Given the description of an element on the screen output the (x, y) to click on. 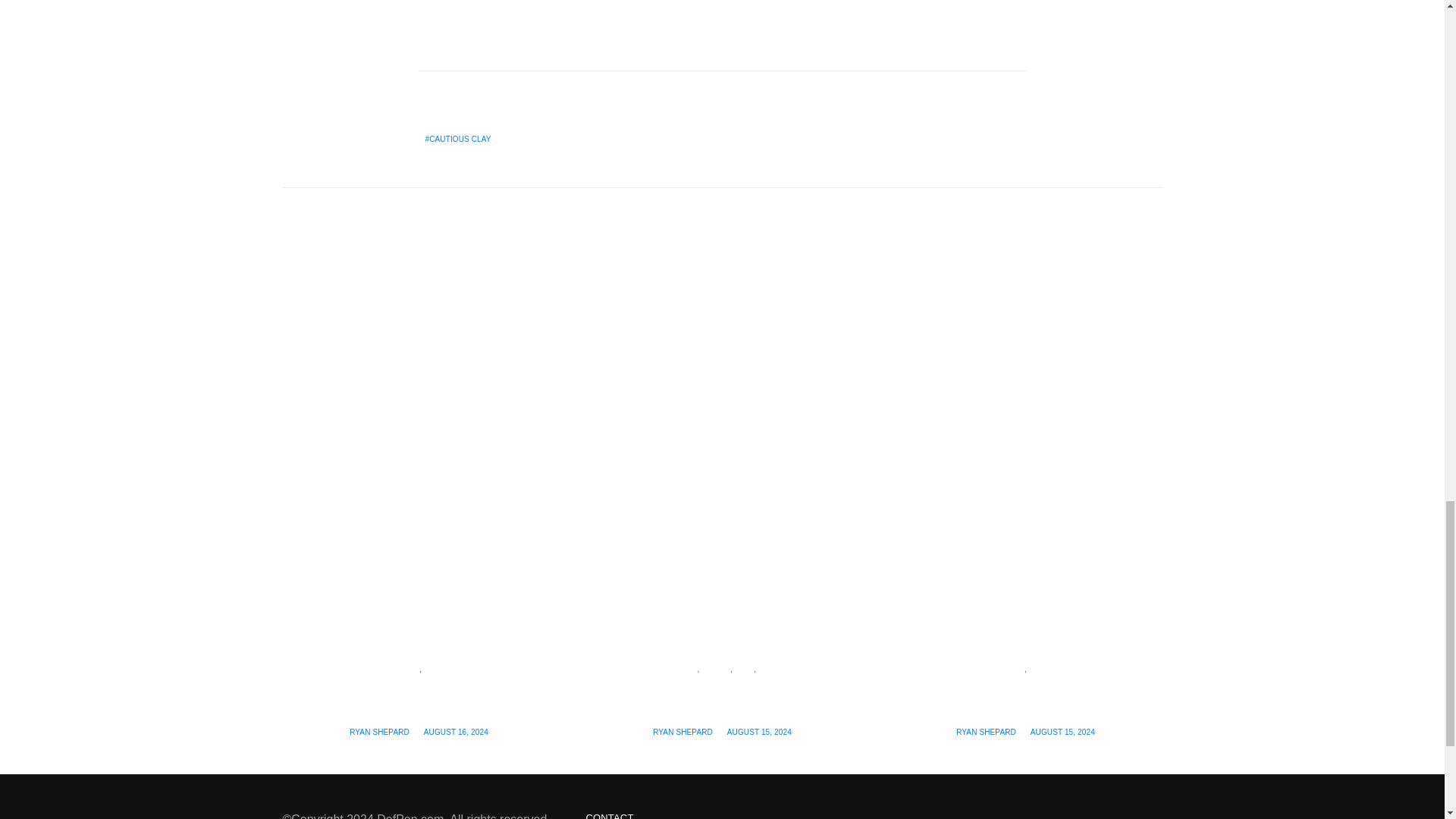
View all posts by Ryan Shepard (682, 732)
View all posts by Ryan Shepard (986, 732)
View all posts by Ryan Shepard (379, 732)
YouTube video player (631, 13)
